Given the description of an element on the screen output the (x, y) to click on. 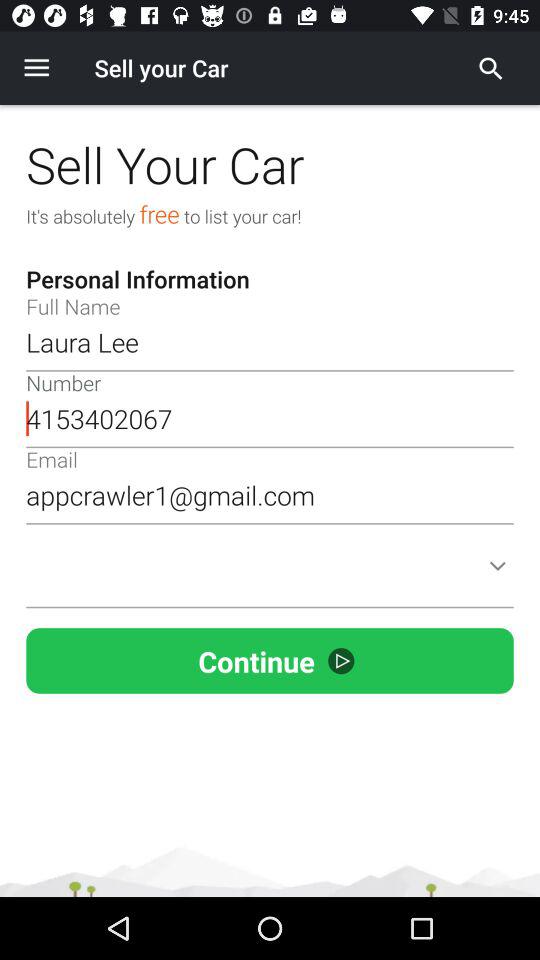
search bar (491, 68)
